Given the description of an element on the screen output the (x, y) to click on. 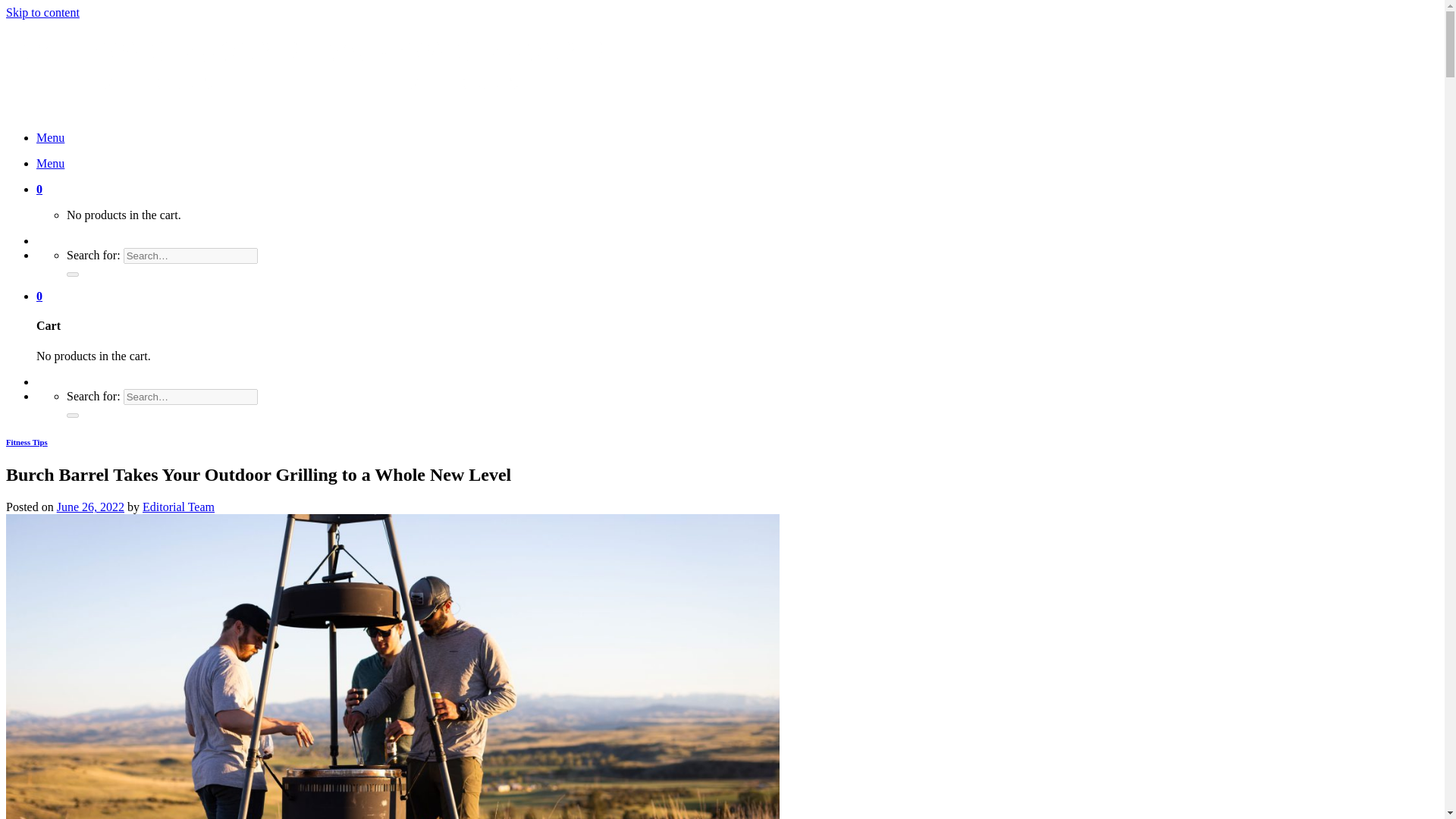
Editorial Team (178, 506)
Search (72, 415)
Fitness Tips (26, 440)
Skip to content (42, 11)
Menu (50, 163)
Search (72, 273)
Menu (50, 137)
June 26, 2022 (89, 506)
